Given the description of an element on the screen output the (x, y) to click on. 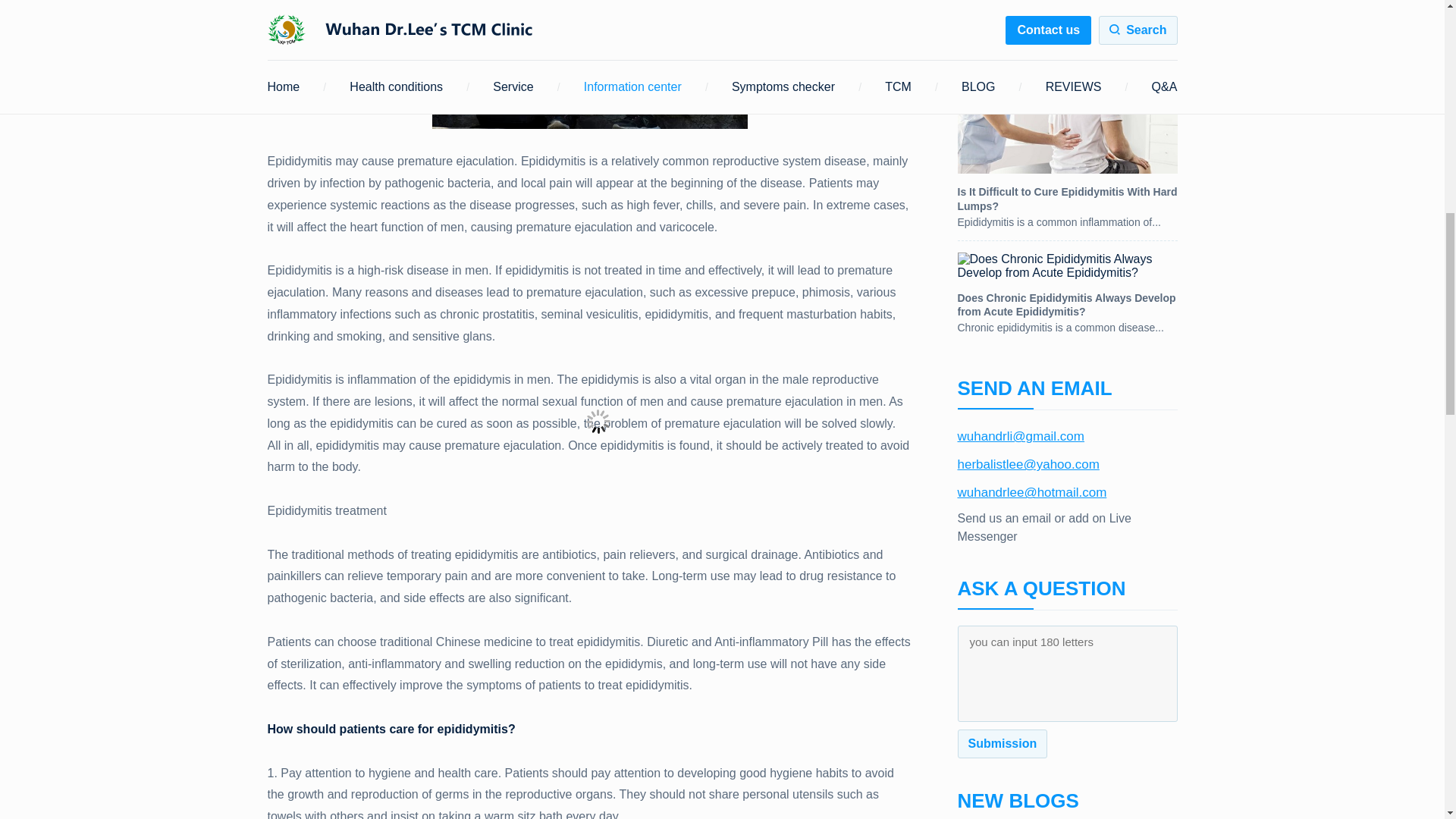
Is It Difficult to Cure Epididymitis With Hard Lumps? (1066, 144)
Can Epididymitis Lead to Testicular Necrosis? (1066, 18)
Submission (1001, 743)
